Given the description of an element on the screen output the (x, y) to click on. 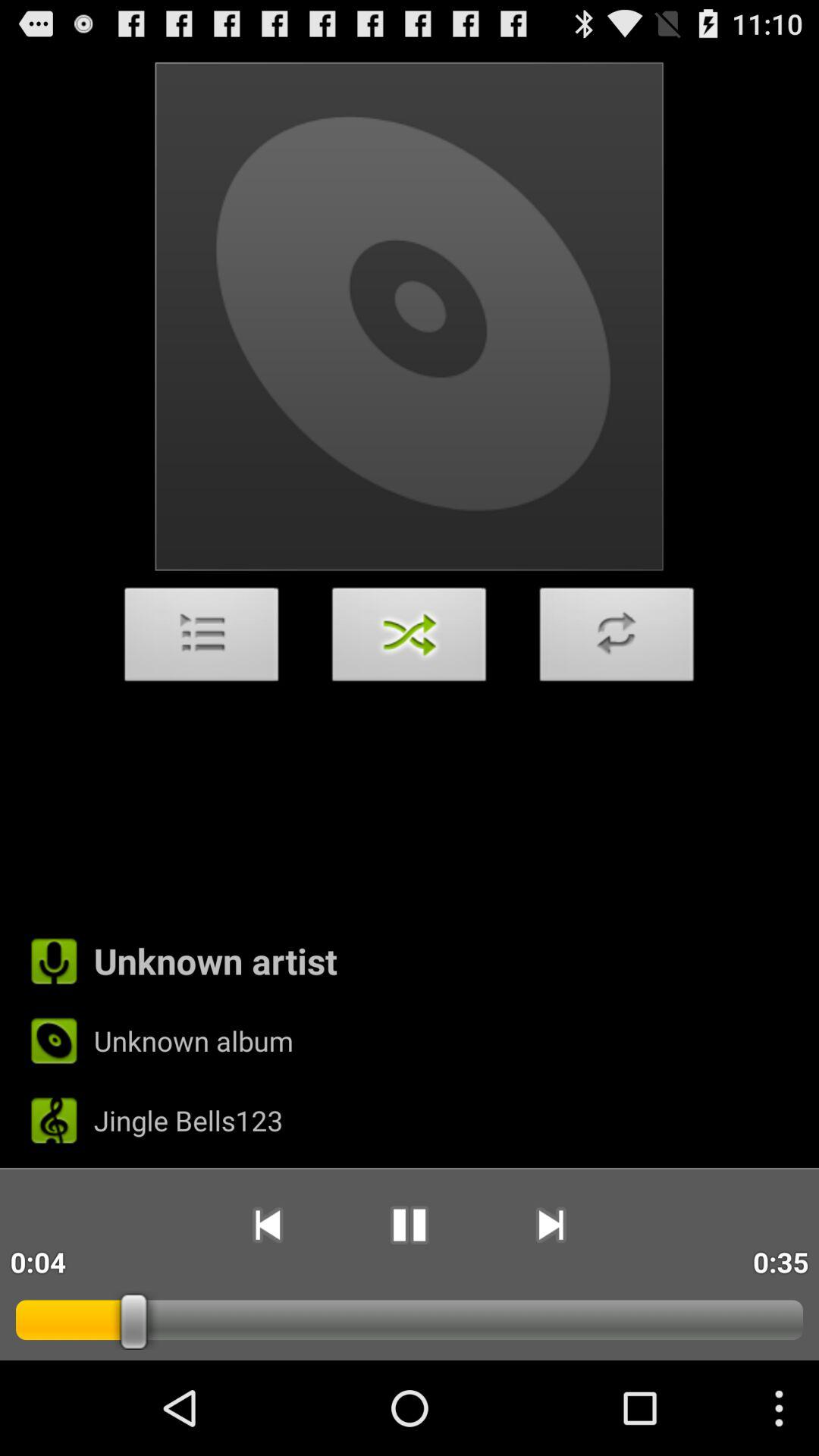
click app to the right of 0:12 icon (267, 1224)
